Given the description of an element on the screen output the (x, y) to click on. 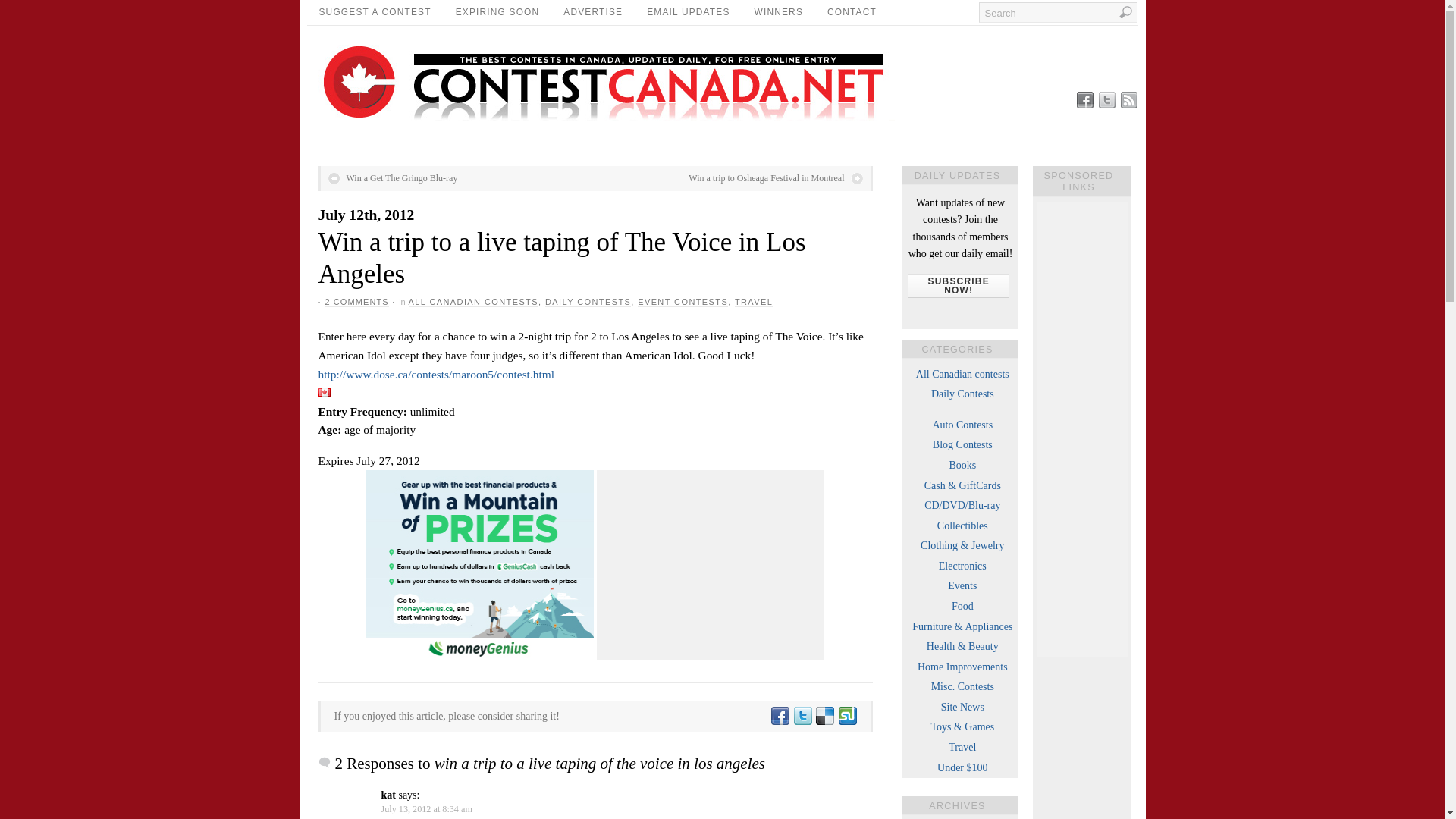
Contests run by bloggers. (962, 444)
CONTACT (851, 12)
Auto Contests (961, 424)
DAILY CONTESTS (587, 302)
Win a Get The Gringo Blu-ray (392, 177)
Search (1057, 12)
Win a trip to Osheaga Festival in Montreal (774, 177)
Canadian contests for automobiles (961, 424)
Collectibles (962, 525)
Subscribe to our daily email (958, 285)
